Given the description of an element on the screen output the (x, y) to click on. 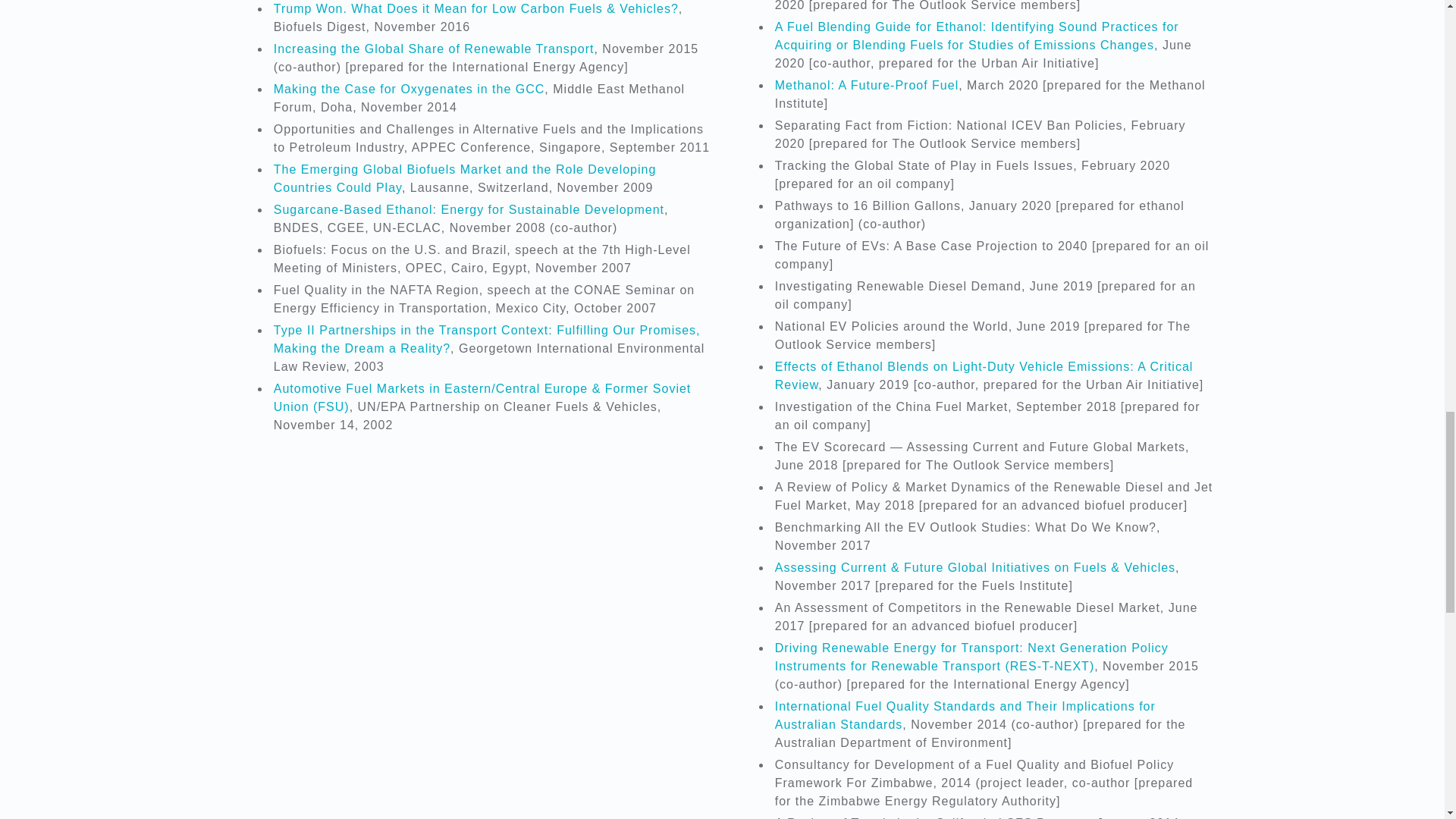
Making the Case for Oxygenates in the GCC (408, 88)
Increasing the Global Share of Renewable Transport (433, 48)
Sugarcane-Based Ethanol: Energy for Sustainable Development (468, 209)
